Given the description of an element on the screen output the (x, y) to click on. 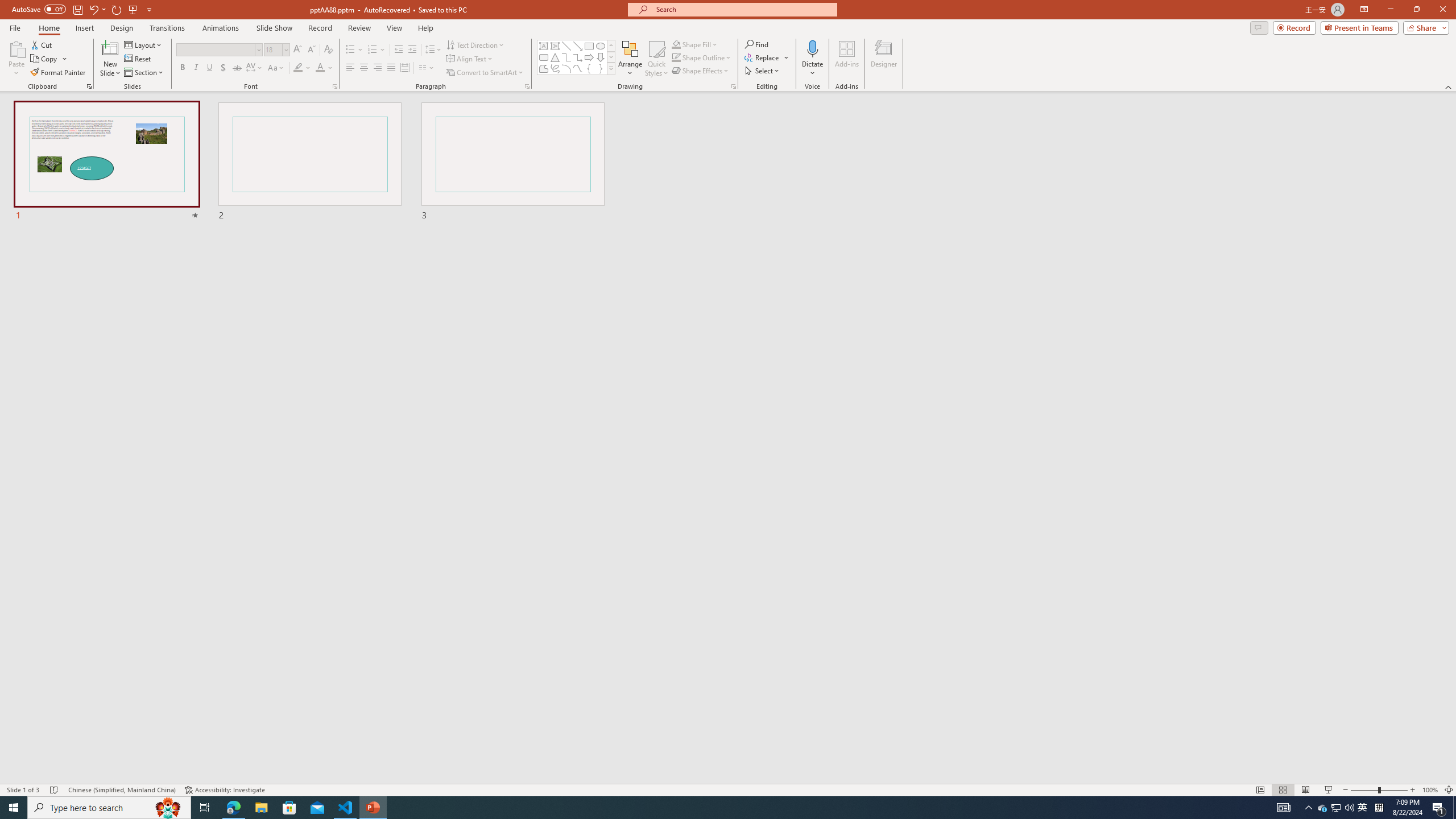
Format Object... (733, 85)
Replace... (767, 56)
Font (219, 49)
Align Left (349, 67)
Spell Check No Errors (54, 790)
Section (144, 72)
Comments (1259, 27)
Redo (117, 9)
Columns (426, 67)
Increase Indent (412, 49)
Vertical Text Box (554, 45)
Italic (195, 67)
